Given the description of an element on the screen output the (x, y) to click on. 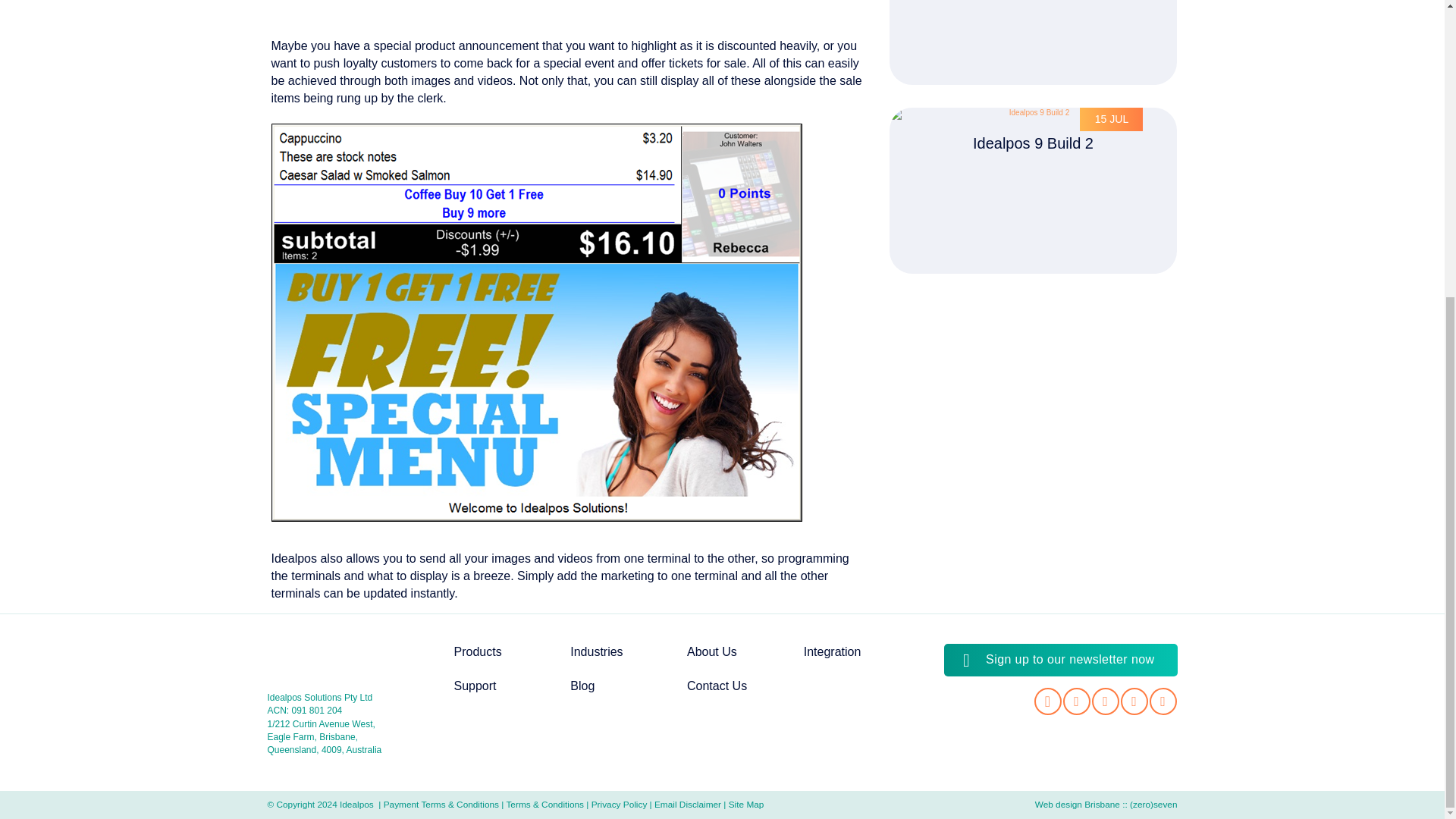
View blog posts under the 'Hardware' category (312, 744)
View blog posts under the 'Software' category (409, 744)
View blog posts under the 'Installations' category (517, 744)
